Given the description of an element on the screen output the (x, y) to click on. 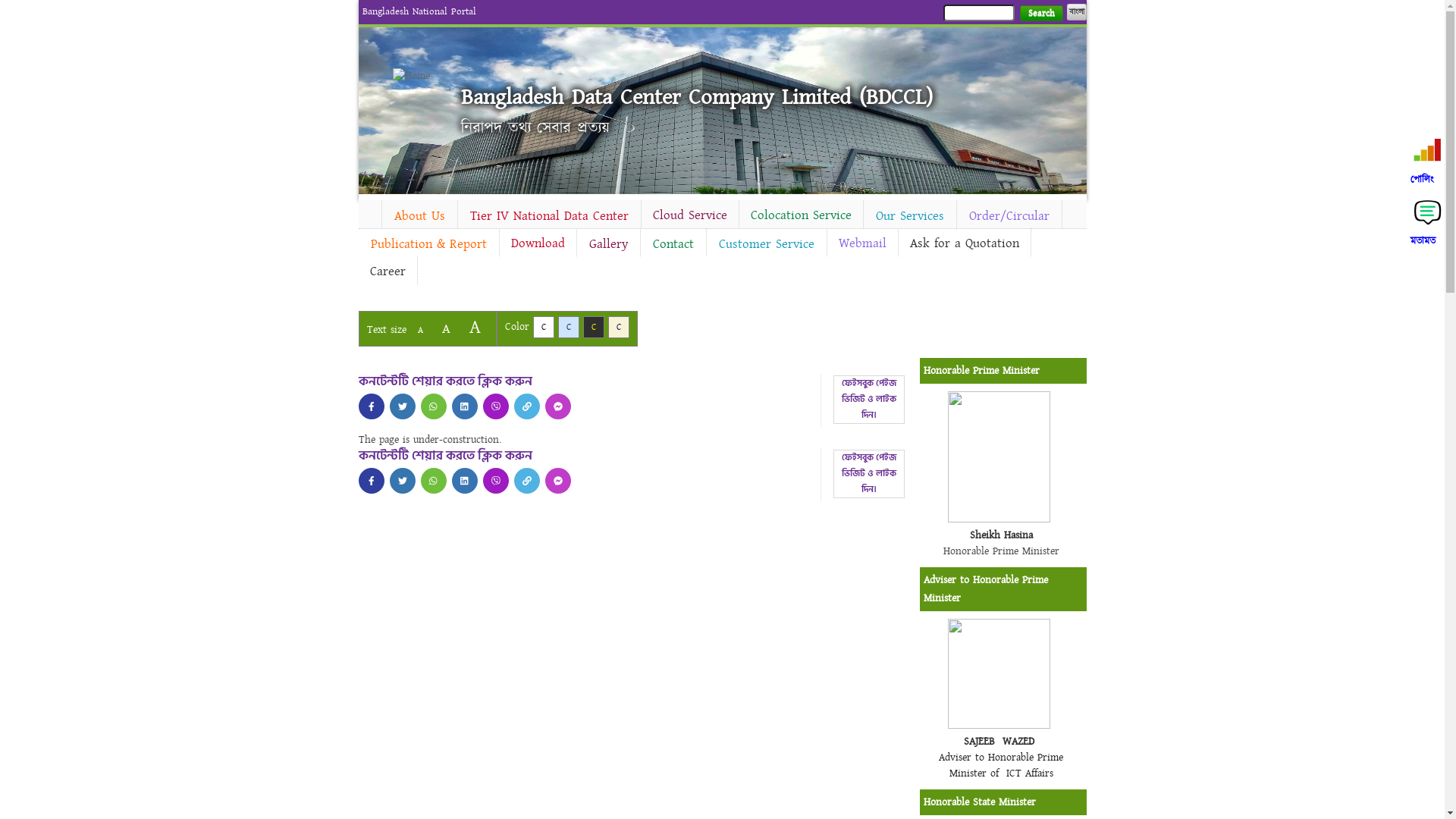
A Element type: text (474, 327)
Publication & Report Element type: text (427, 244)
Webmail Element type: text (861, 243)
Ask for a Quotation Element type: text (963, 243)
A Element type: text (445, 328)
C Element type: text (592, 327)
Tier IV National Data Center Element type: text (549, 216)
Order/Circular Element type: text (1009, 216)
Bangladesh Data Center Company Limited (BDCCL) Element type: text (696, 96)
Career Element type: text (386, 271)
C Element type: text (618, 327)
Cloud Service Element type: text (689, 215)
C Element type: text (542, 327)
Colocation Service Element type: text (800, 215)
Contact Element type: text (672, 244)
Customer Service Element type: text (766, 244)
C Element type: text (568, 327)
Download Element type: text (536, 243)
About Us Element type: text (419, 216)
Home Element type: hover (418, 76)
A Element type: text (419, 330)
Bangladesh National Portal Element type: text (419, 11)
Gallery Element type: text (607, 244)
Home Element type: hover (368, 211)
Our Services Element type: text (908, 216)
Search Element type: text (1040, 13)
